Given the description of an element on the screen output the (x, y) to click on. 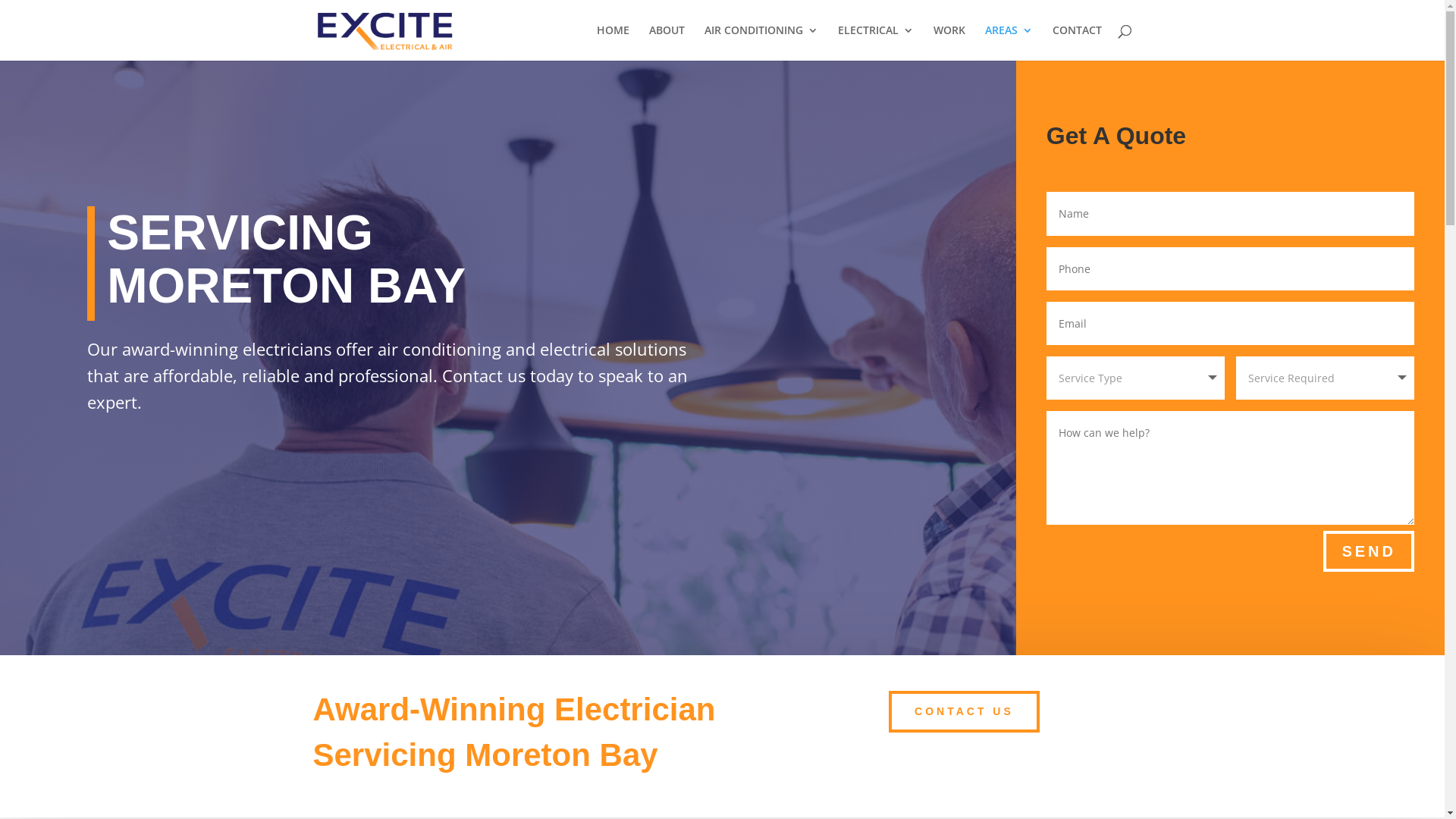
SEND Element type: text (1368, 550)
ELECTRICAL Element type: text (875, 42)
CONTACT US Element type: text (963, 711)
ABOUT Element type: text (666, 42)
WORK Element type: text (948, 42)
Only numbers allowed. Element type: hover (1230, 268)
HOME Element type: text (612, 42)
AIR CONDITIONING Element type: text (760, 42)
AREAS Element type: text (1008, 42)
CONTACT Element type: text (1076, 42)
